Given the description of an element on the screen output the (x, y) to click on. 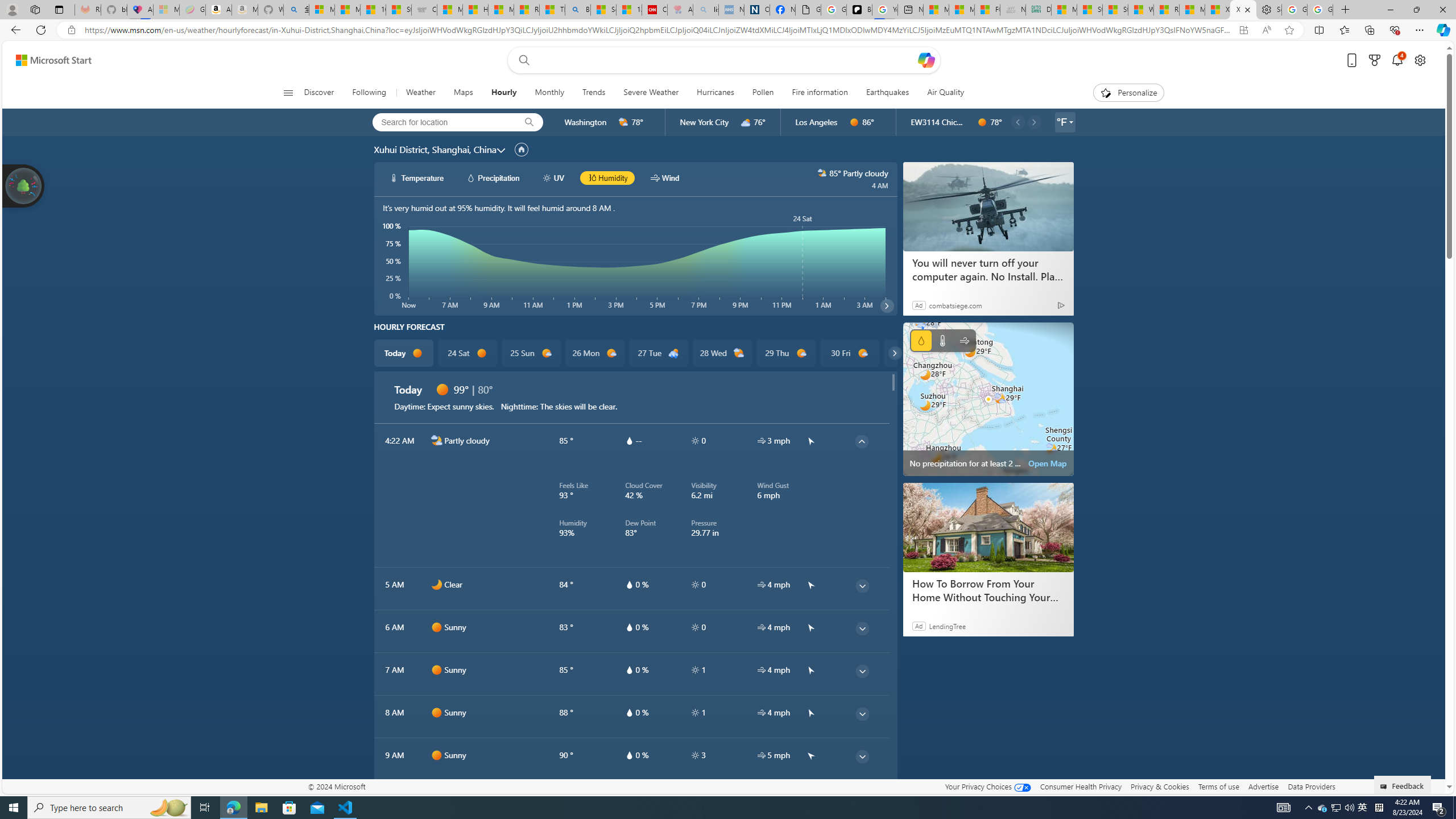
Air Quality (945, 92)
Search for location (440, 122)
Trends (593, 92)
locationBar/triangle (1070, 122)
hourlyChart/windWhite Wind (664, 178)
